Given the description of an element on the screen output the (x, y) to click on. 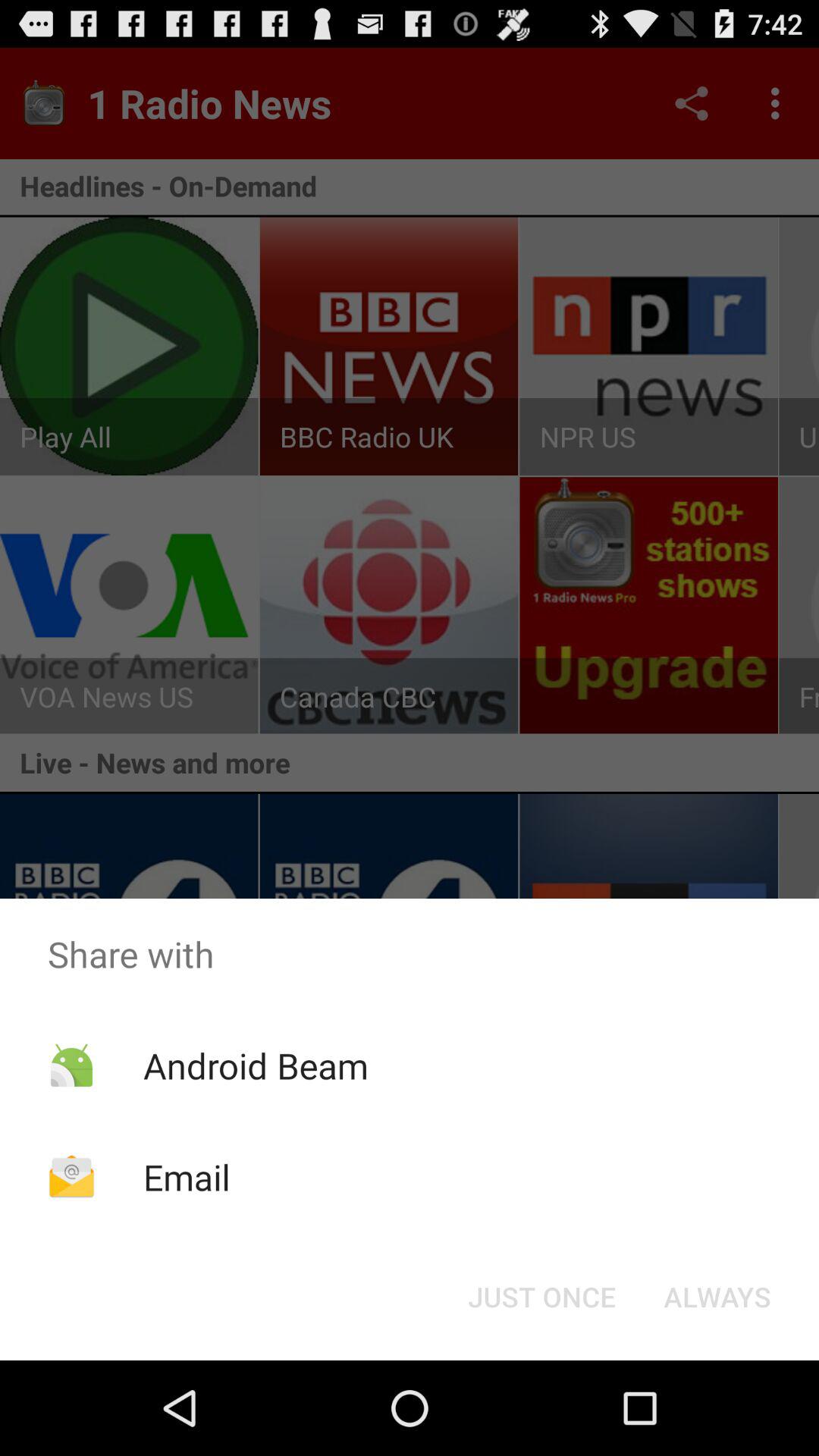
click the email icon (186, 1176)
